Given the description of an element on the screen output the (x, y) to click on. 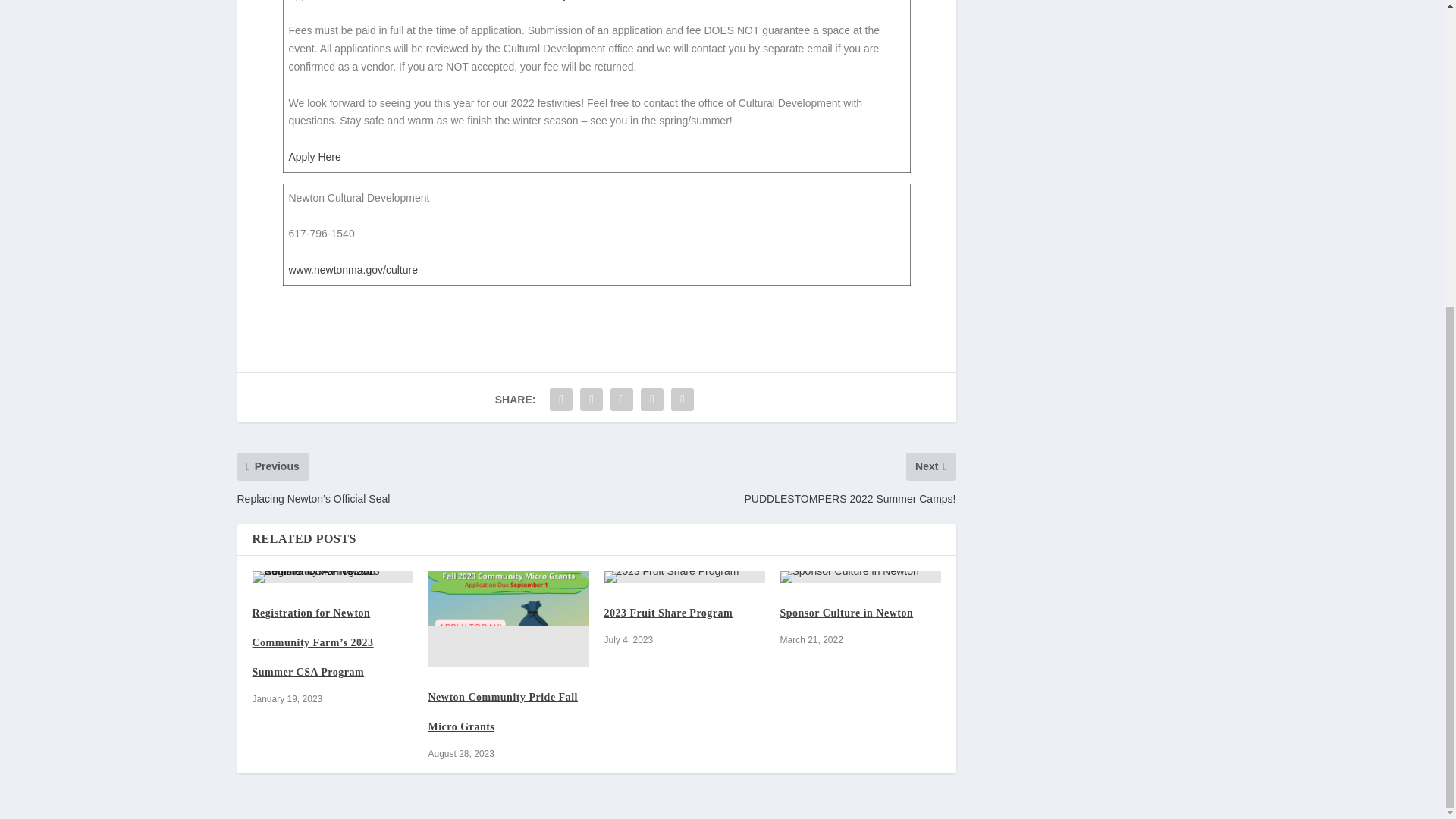
Flutter (268, 667)
Newton Community Farms Spring Education Programs! (508, 631)
Newton Community Farms Spring Education Programs! (497, 681)
Albemarle Community Survey Deadline March 13 (678, 681)
www.newtonma.myrec.com (541, 49)
